Given the description of an element on the screen output the (x, y) to click on. 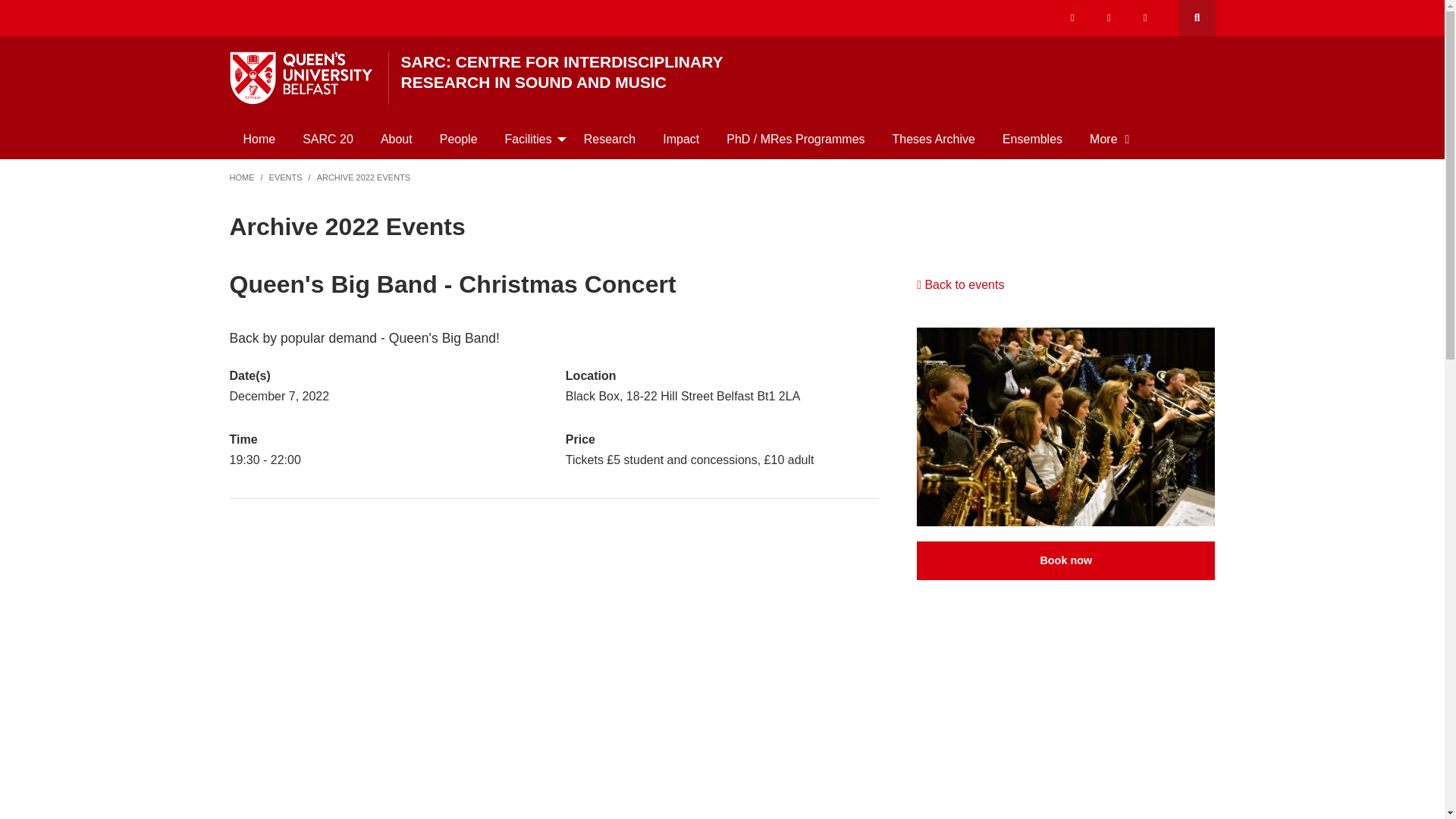
Research (609, 138)
Open search drawer (1195, 18)
Theses Archive (933, 138)
Home (258, 138)
Facilities (531, 138)
More (1108, 138)
Our x-twitter (1072, 18)
About (396, 138)
